Given the description of an element on the screen output the (x, y) to click on. 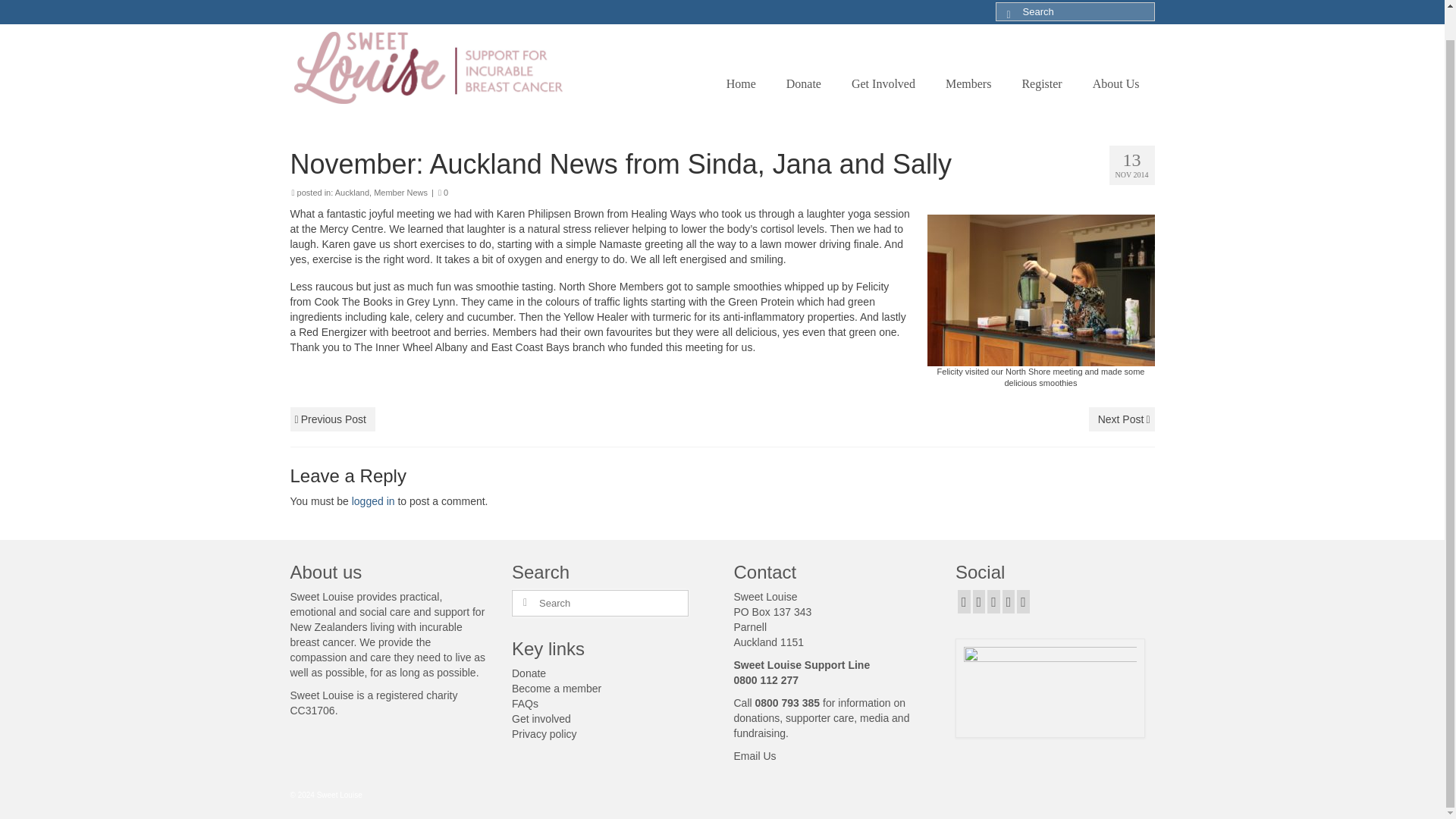
Get Involved (882, 83)
Donate (803, 83)
LinkedIn (1022, 601)
Facebook (964, 601)
Instagram (993, 601)
Home (741, 83)
Register (1041, 83)
Members (968, 83)
YouTube (1008, 601)
Sweet Louise (428, 67)
Twitter (978, 601)
